Given the description of an element on the screen output the (x, y) to click on. 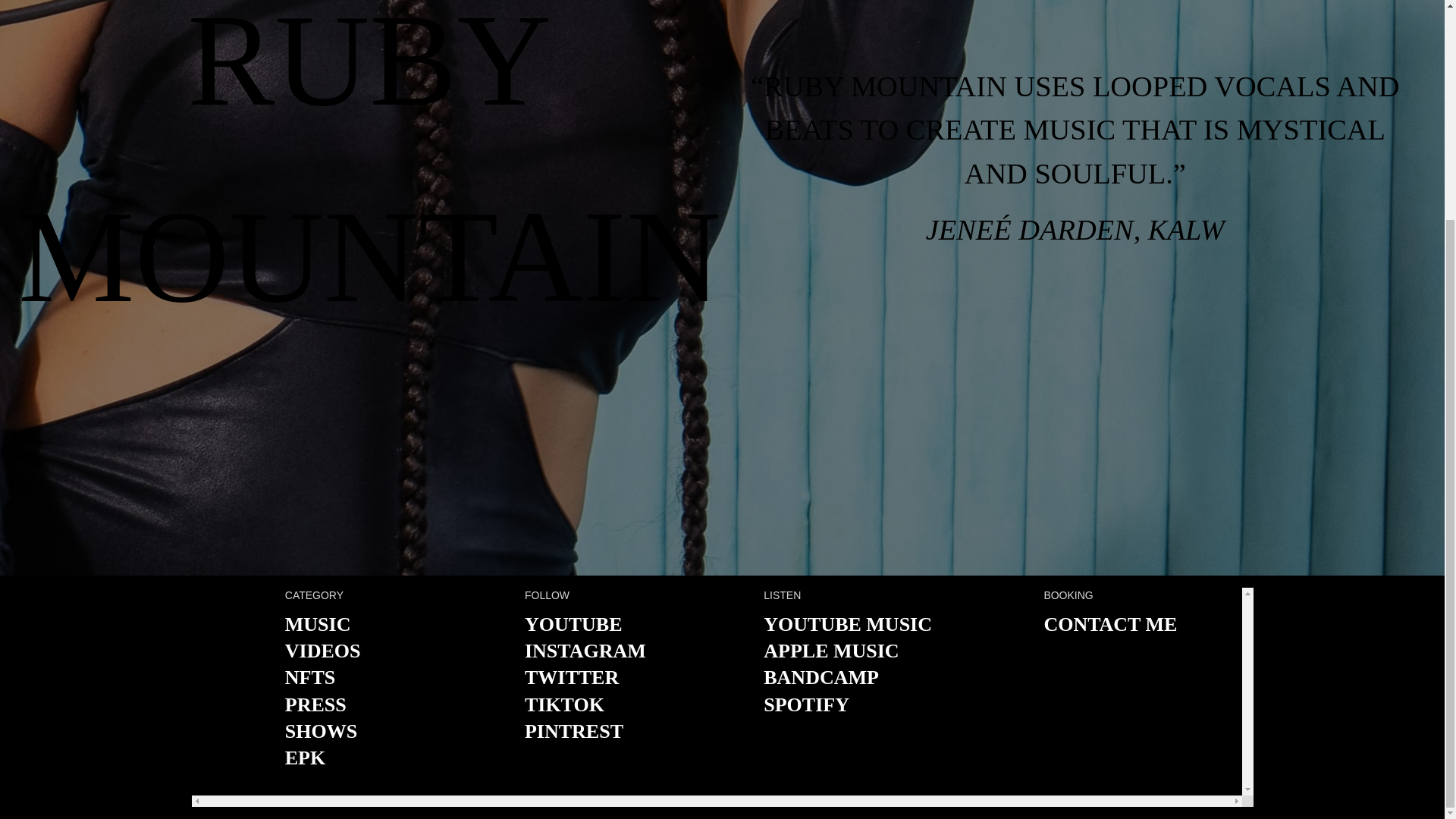
APPLE MUSIC (830, 650)
EPK (304, 757)
MUSIC (317, 624)
BANDCAMP (820, 677)
NFTS (309, 677)
INSTAGRAM (585, 650)
VIDEOS (323, 650)
TIKTOK (564, 704)
SHOWS (320, 730)
TWITTER (571, 677)
YOUTUBE (573, 624)
PINTREST (573, 730)
YOUTUBE MUSIC (846, 624)
PRESS (315, 704)
